Given the description of an element on the screen output the (x, y) to click on. 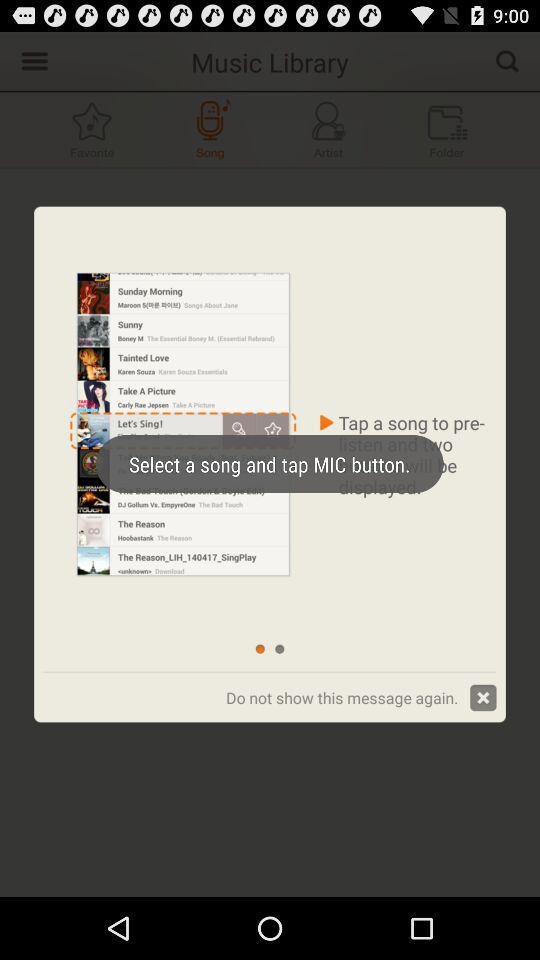
favorite symbol (92, 129)
